Given the description of an element on the screen output the (x, y) to click on. 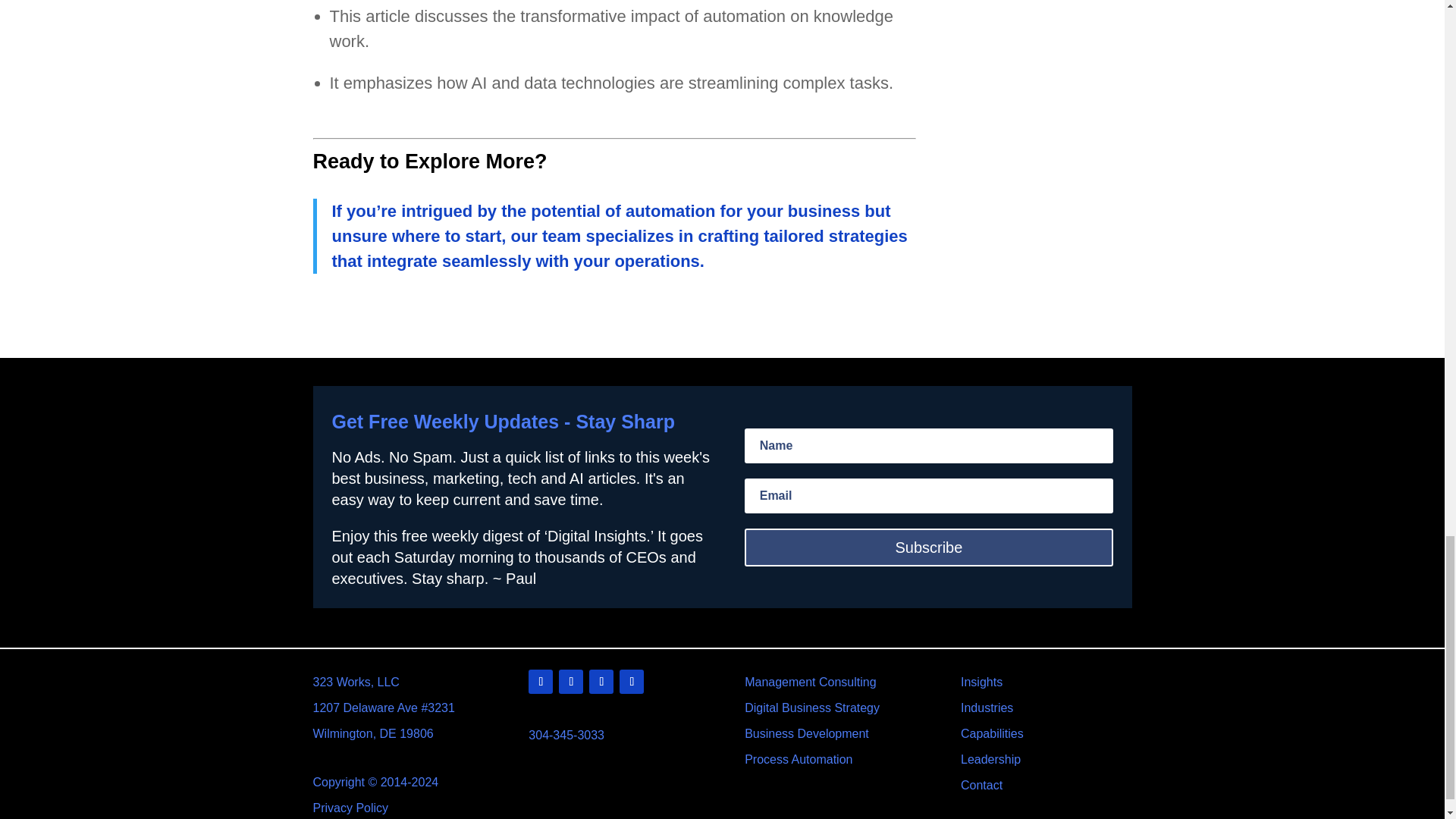
Privacy Policy (350, 807)
Management Consulting (810, 681)
304-345-3033 (566, 735)
Capabilities (991, 733)
Follow on Facebook (600, 681)
Follow on LinkedIn (540, 681)
Follow on Instagram (631, 681)
Subscribe (928, 547)
Contact (981, 784)
Insights (981, 681)
Leadership (990, 758)
Business Development (806, 733)
Digital Business Strategy (811, 707)
Process Automation (797, 758)
Follow on X (571, 681)
